Given the description of an element on the screen output the (x, y) to click on. 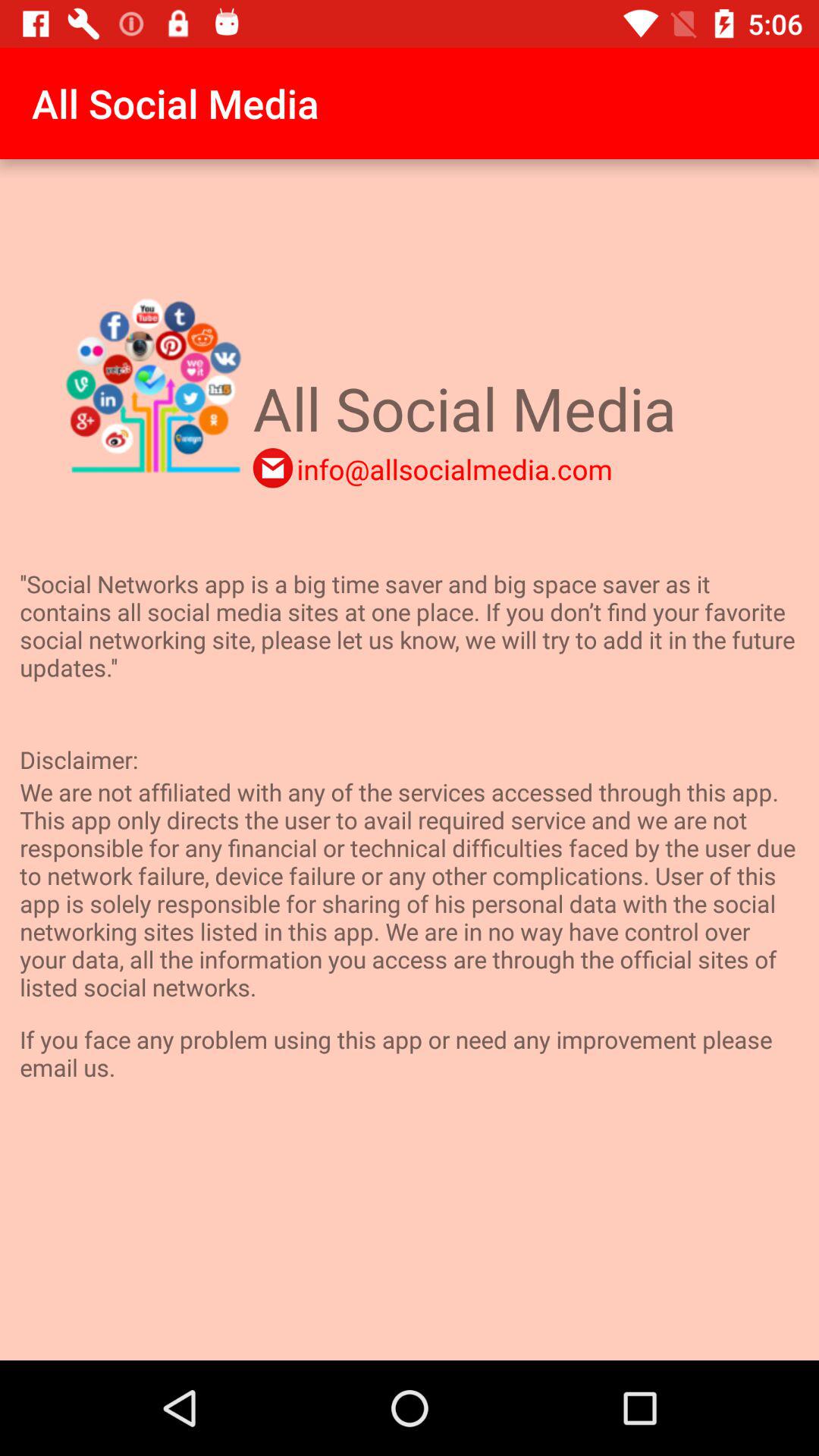
open the item to the left of info@allsocialmedia.com icon (272, 467)
